Given the description of an element on the screen output the (x, y) to click on. 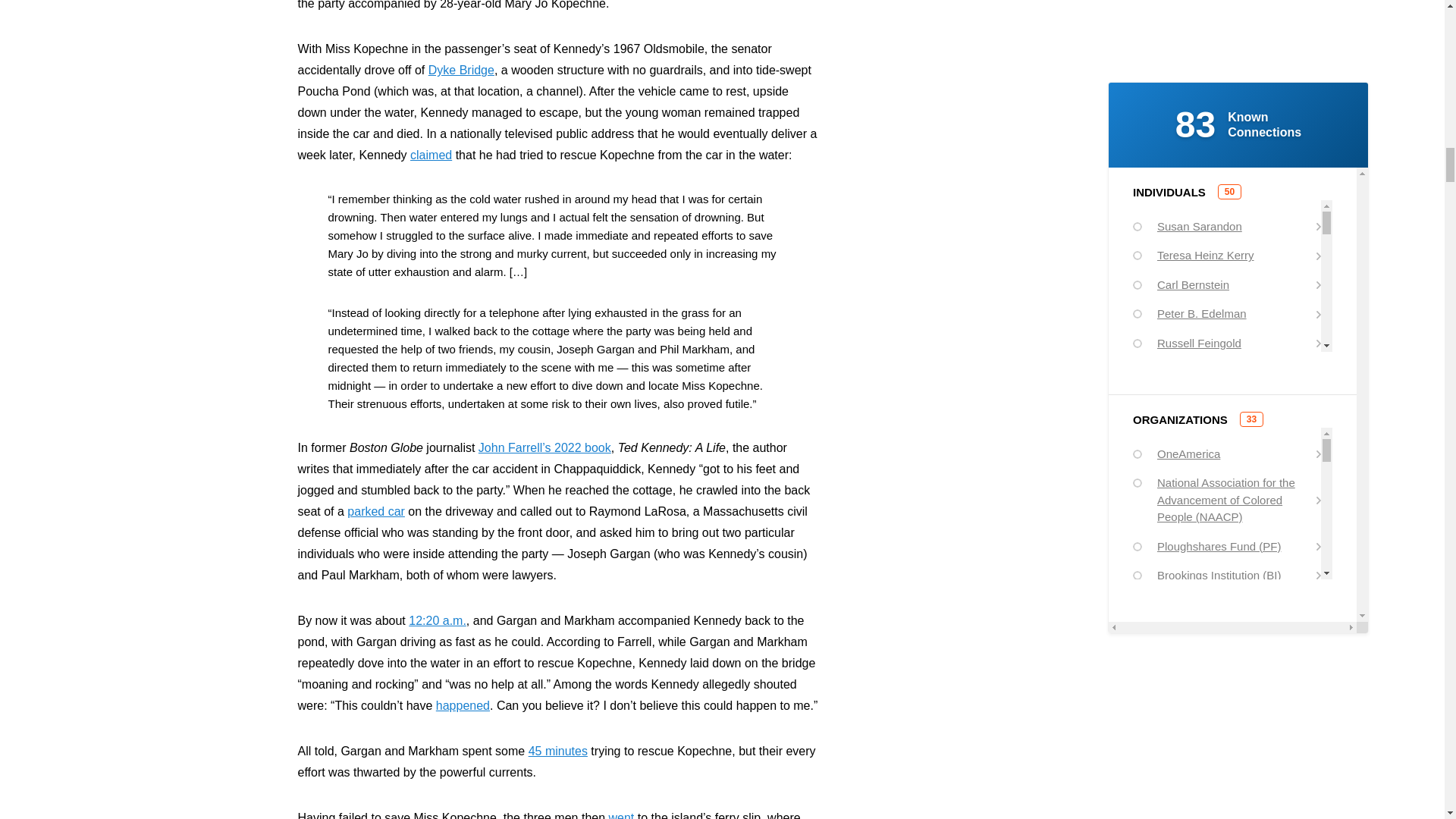
went (621, 815)
happened (462, 705)
parked car (375, 511)
12:20 a.m. (437, 620)
45 minutes (558, 750)
claimed (430, 154)
Dyke Bridge (461, 69)
